Given the description of an element on the screen output the (x, y) to click on. 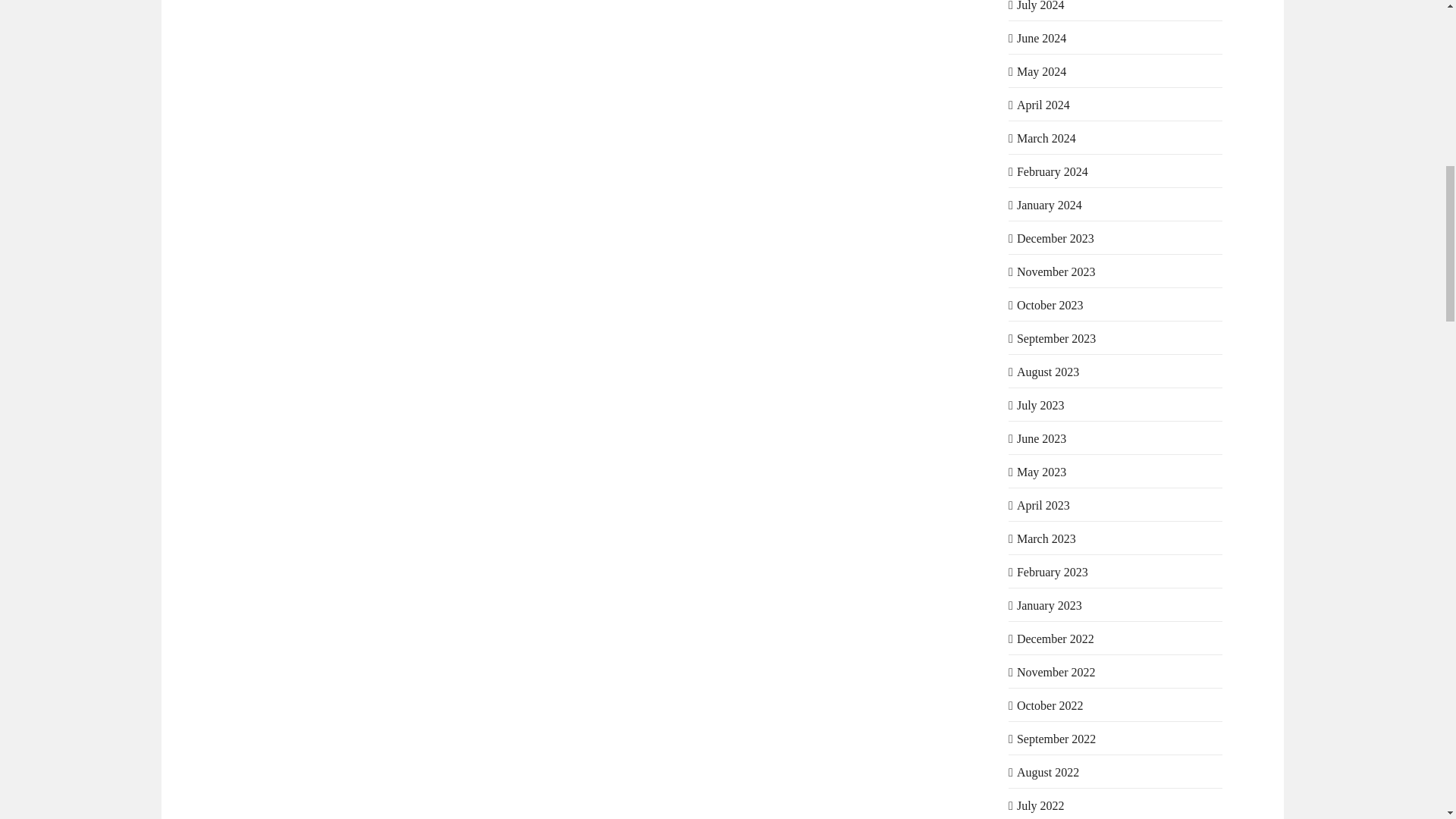
May 2024 (1040, 71)
April 2024 (1043, 104)
July 2024 (1040, 5)
February 2024 (1051, 171)
December 2023 (1055, 237)
March 2024 (1045, 137)
June 2024 (1040, 38)
January 2024 (1048, 205)
November 2023 (1056, 271)
